Given the description of an element on the screen output the (x, y) to click on. 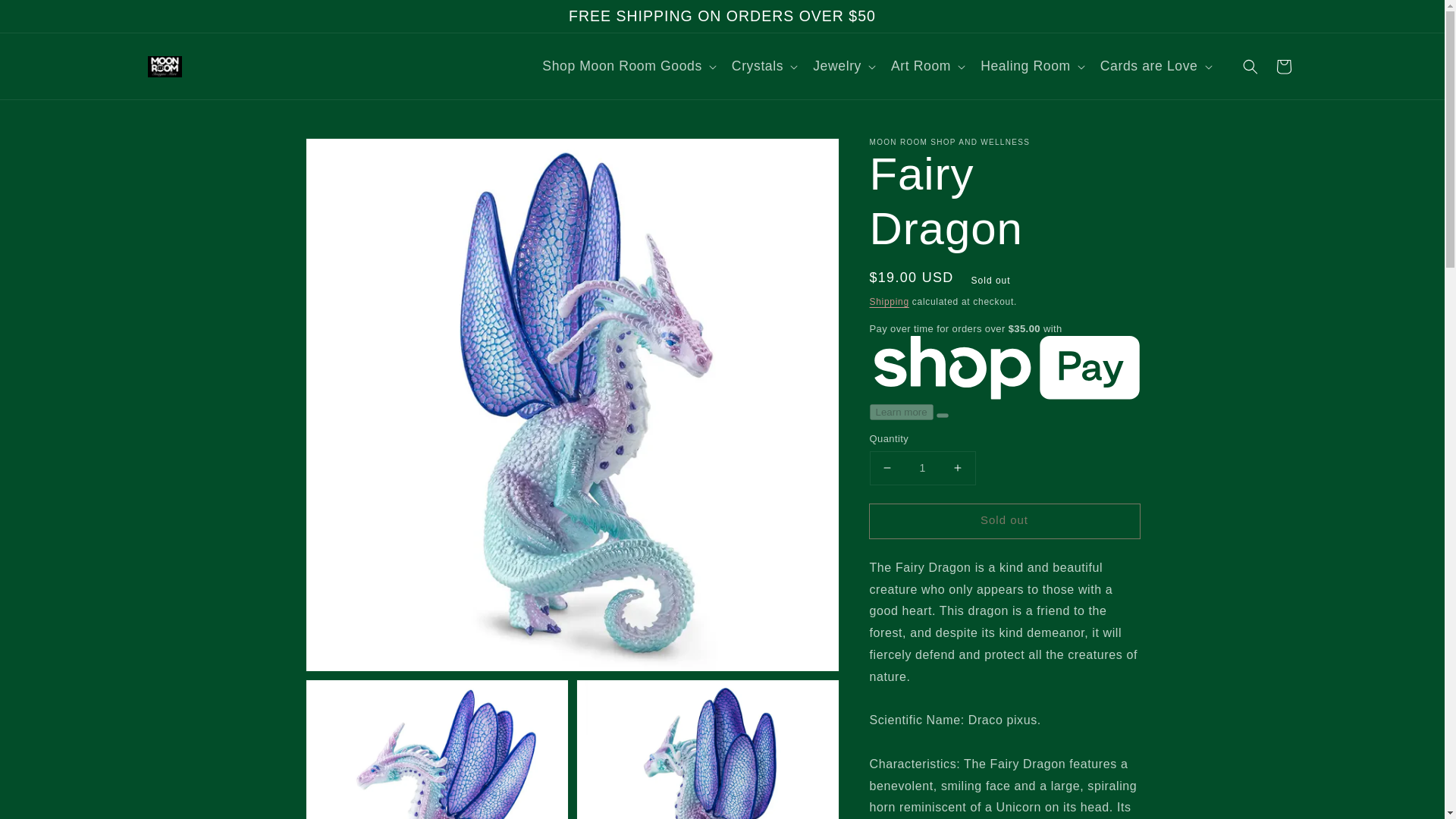
1 (922, 468)
Skip to content (45, 16)
